Given the description of an element on the screen output the (x, y) to click on. 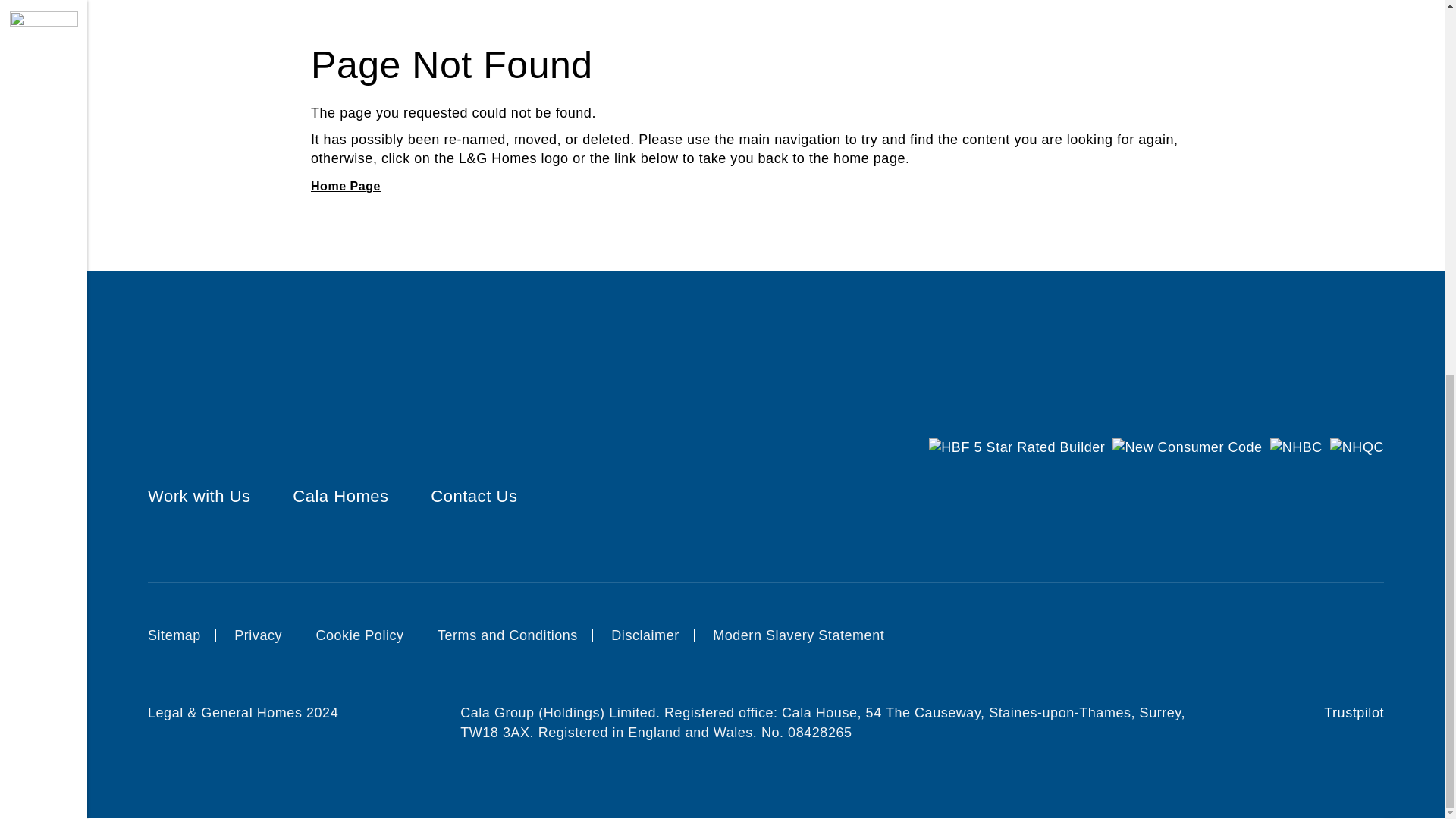
Cala Homes (340, 496)
Work with Us (199, 496)
Privacy (258, 635)
Home Page (345, 185)
Contact Us (473, 496)
LG Homes (345, 185)
Terms and Conditions (508, 635)
Disclaimer (644, 635)
Cookie Policy (359, 635)
Sitemap (174, 635)
